Given the description of an element on the screen output the (x, y) to click on. 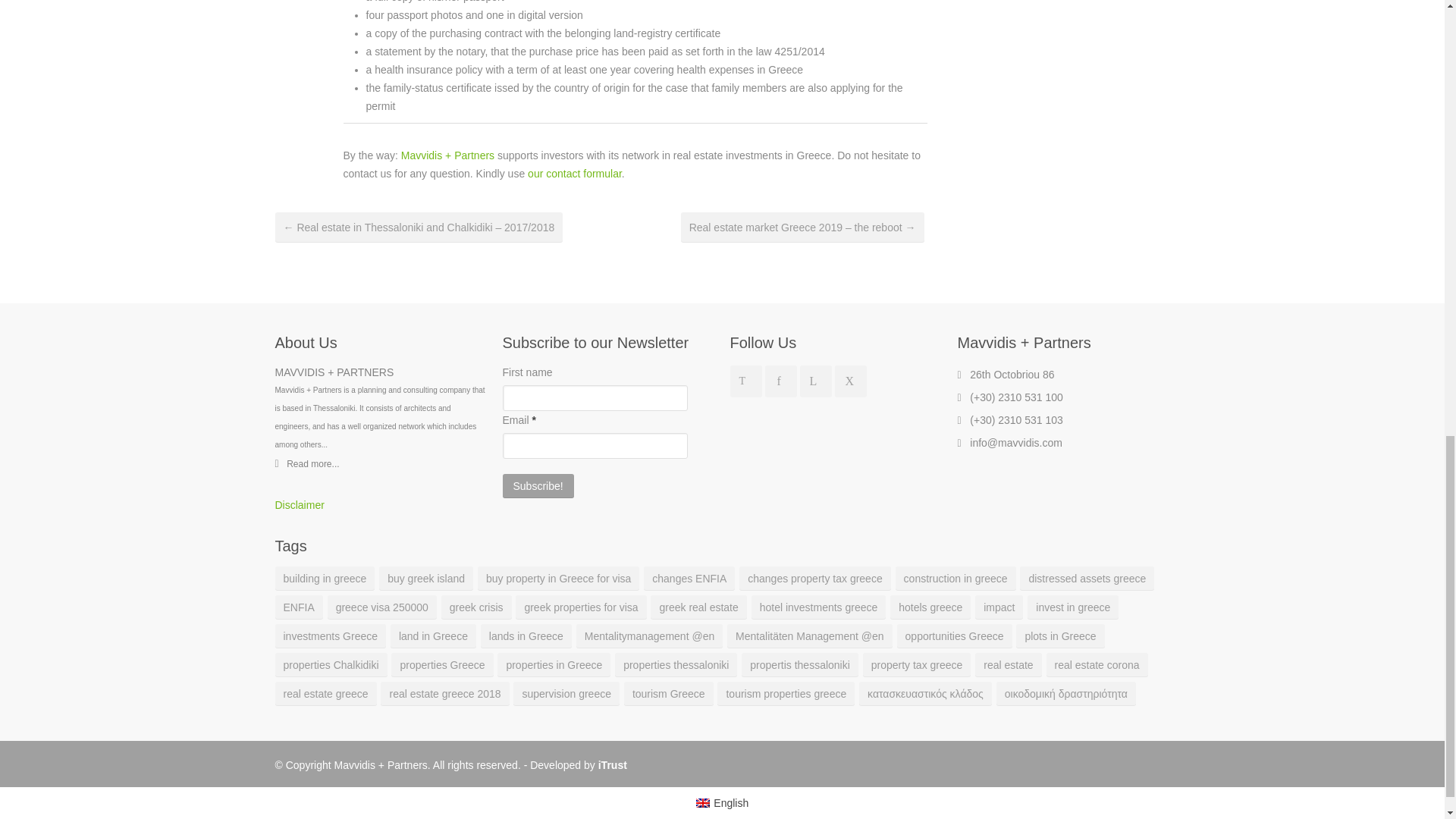
First name (594, 397)
Development by iTrust (612, 765)
our contact formular (574, 173)
Email (594, 445)
Subscribe! (537, 485)
